Given the description of an element on the screen output the (x, y) to click on. 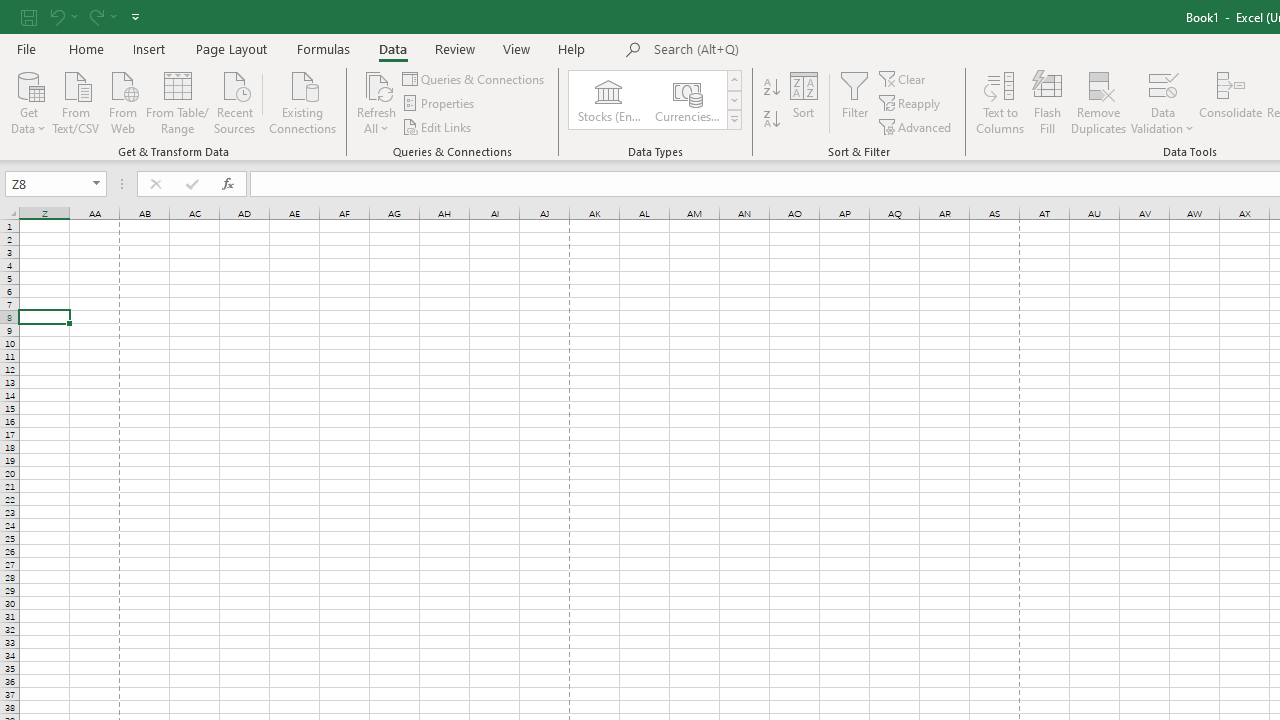
Consolidate... (1230, 102)
